Given the description of an element on the screen output the (x, y) to click on. 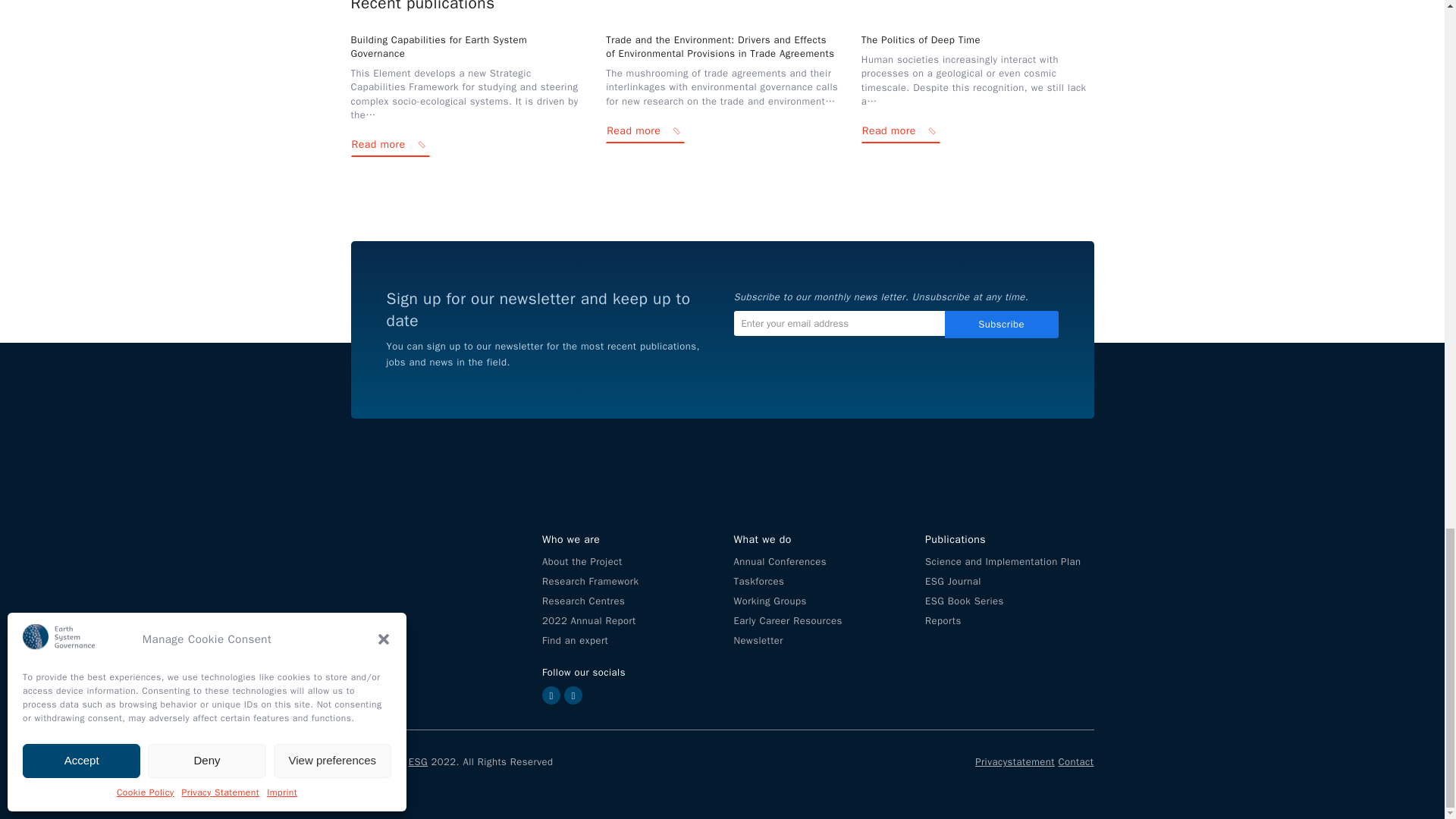
Read more (389, 147)
Subscribe (1001, 324)
Building Capabilities for Earth System Governance (438, 46)
Read more (644, 133)
The Politics of Deep Time (920, 39)
Read more (900, 133)
